Given the description of an element on the screen output the (x, y) to click on. 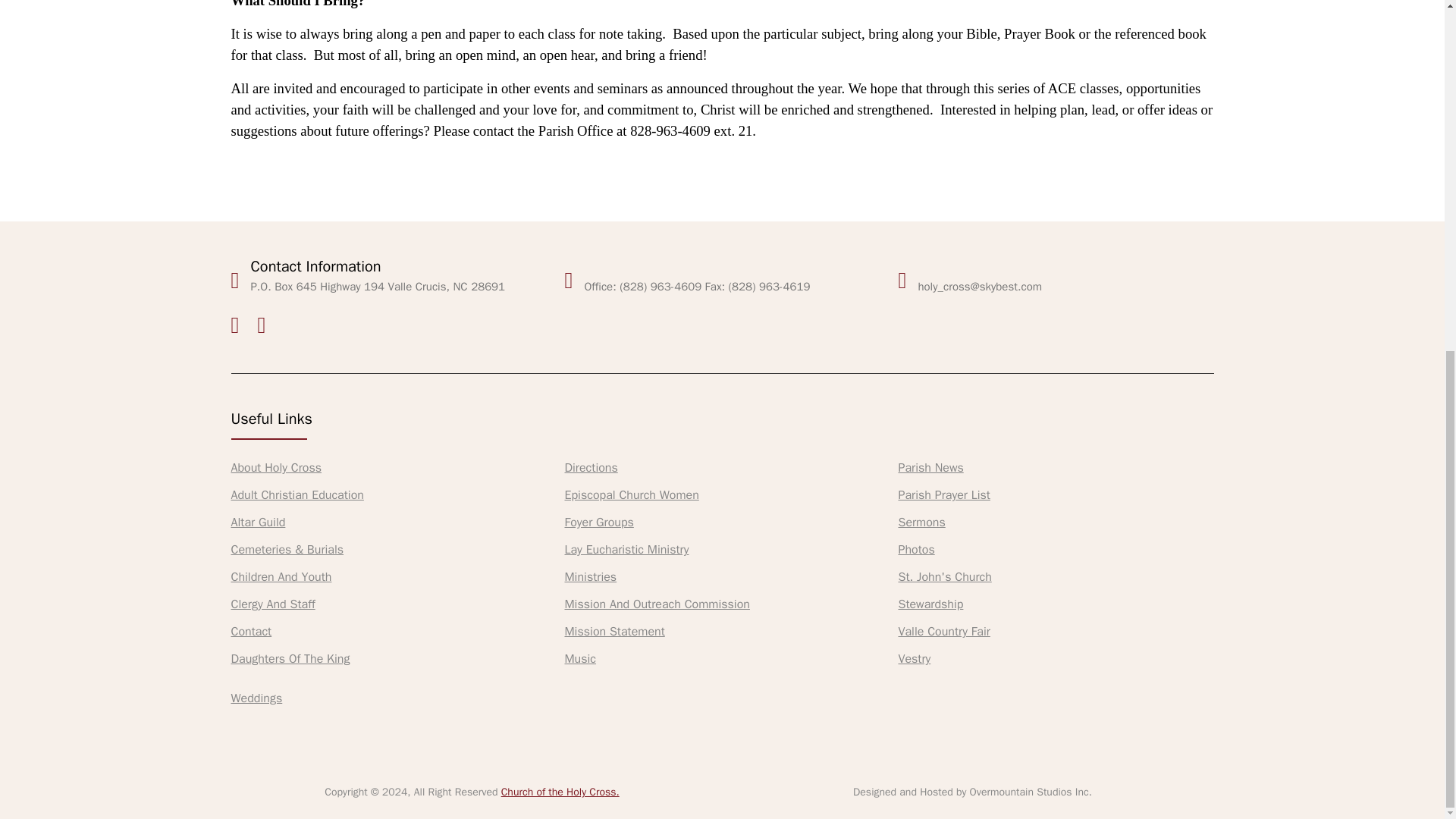
Contact (250, 631)
Directions (590, 467)
Children And Youth (280, 576)
Daughters Of The King (289, 658)
About Holy Cross (275, 467)
Altar Guild (257, 522)
Adult Christian Education (296, 494)
Clergy And Staff (272, 604)
